Given the description of an element on the screen output the (x, y) to click on. 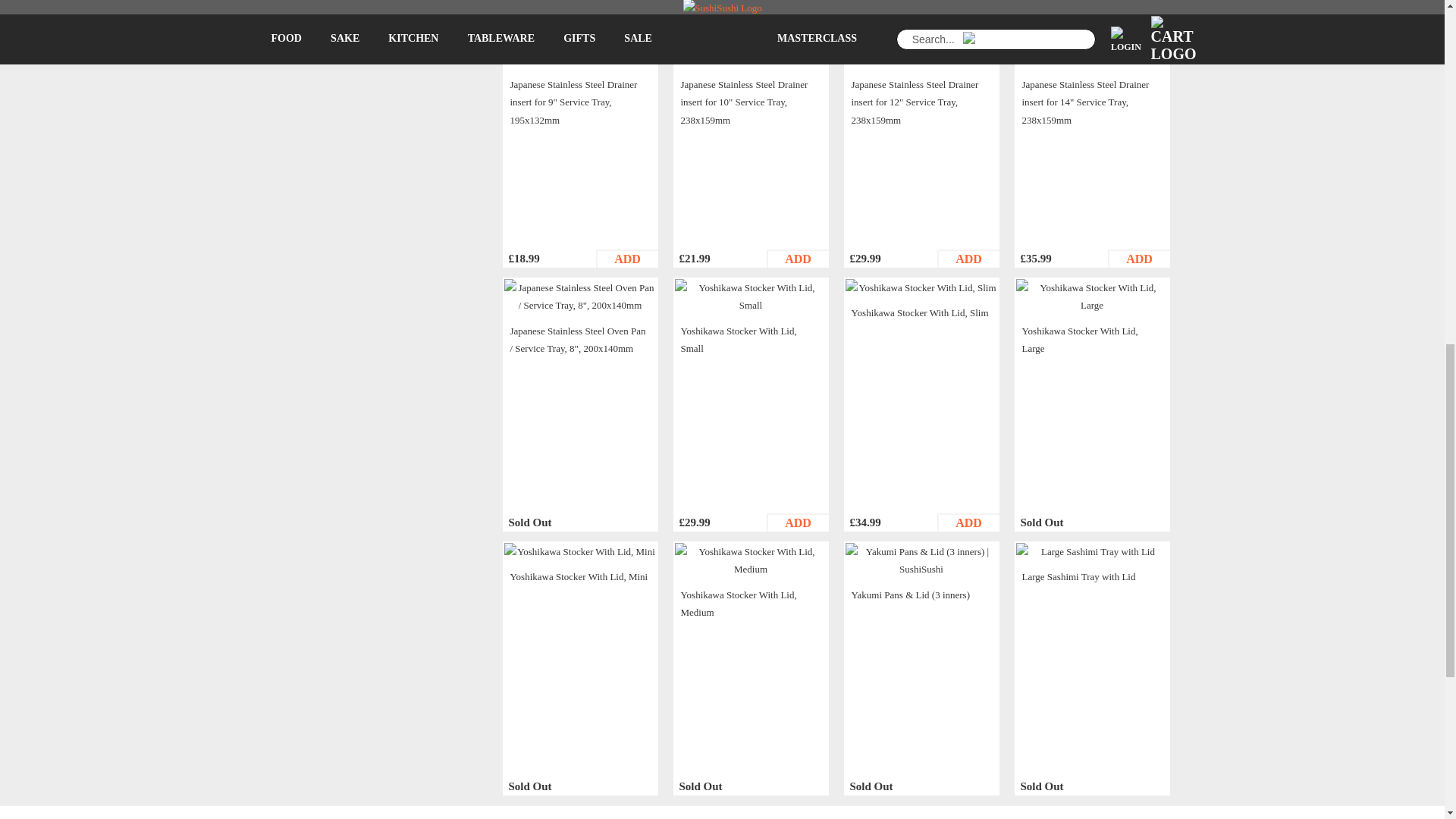
Add (626, 258)
Add (967, 522)
Add (796, 258)
Add (796, 2)
Add (626, 2)
Add (1137, 258)
Add (1137, 2)
Add (967, 258)
Add (796, 522)
Add (967, 2)
